Given the description of an element on the screen output the (x, y) to click on. 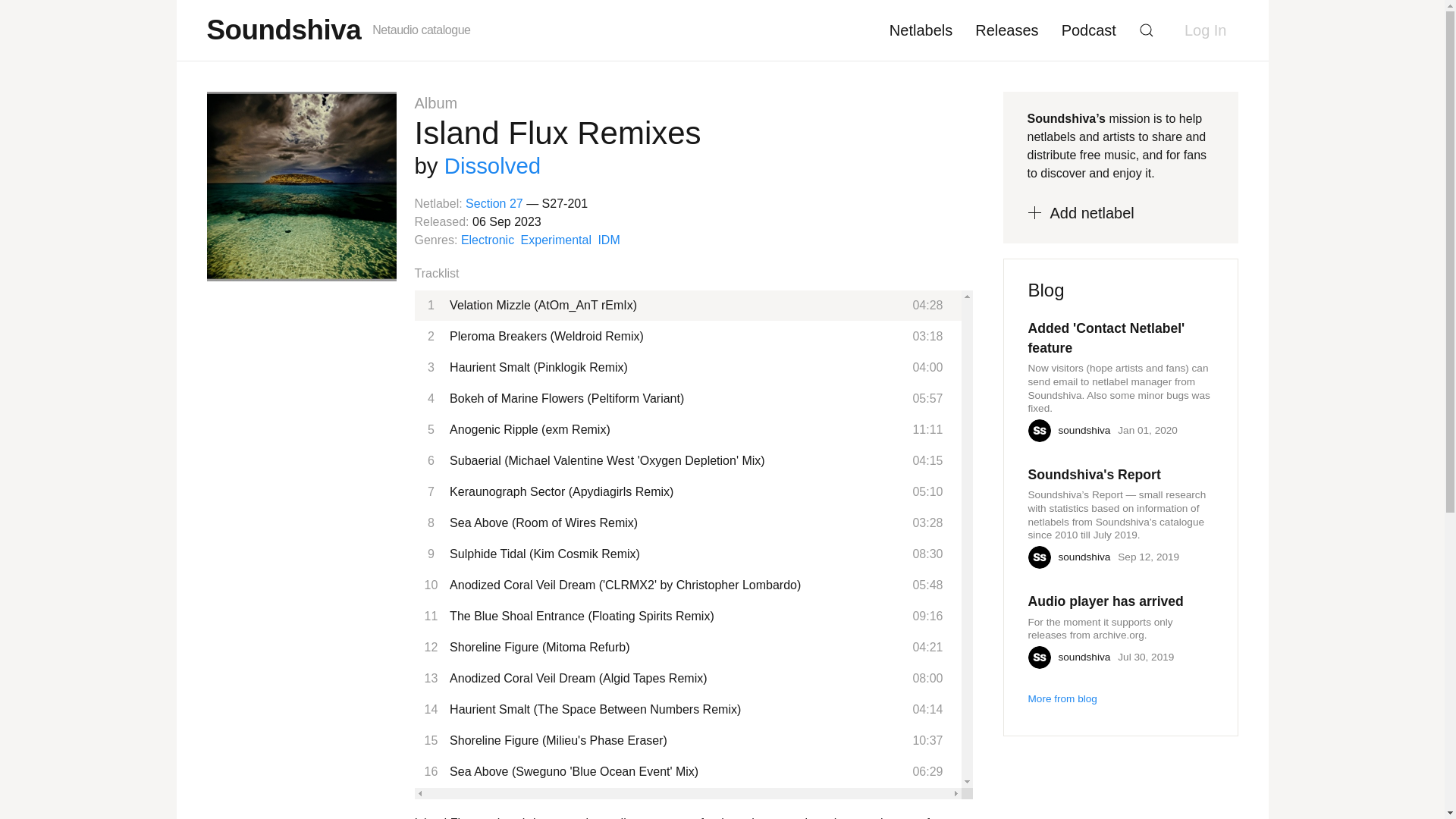
Added 'Contact Netlabel' feature (1119, 338)
Soundshiva's Report (1093, 474)
Soundshiva Podcast (1087, 30)
Cover of 'Island Flux Remixes ' by Dissolved (301, 186)
Podcast (1087, 30)
Log In (1206, 30)
Audio player has arrived (1105, 600)
Explore releases (1006, 30)
Soundshiva (283, 29)
